Given the description of an element on the screen output the (x, y) to click on. 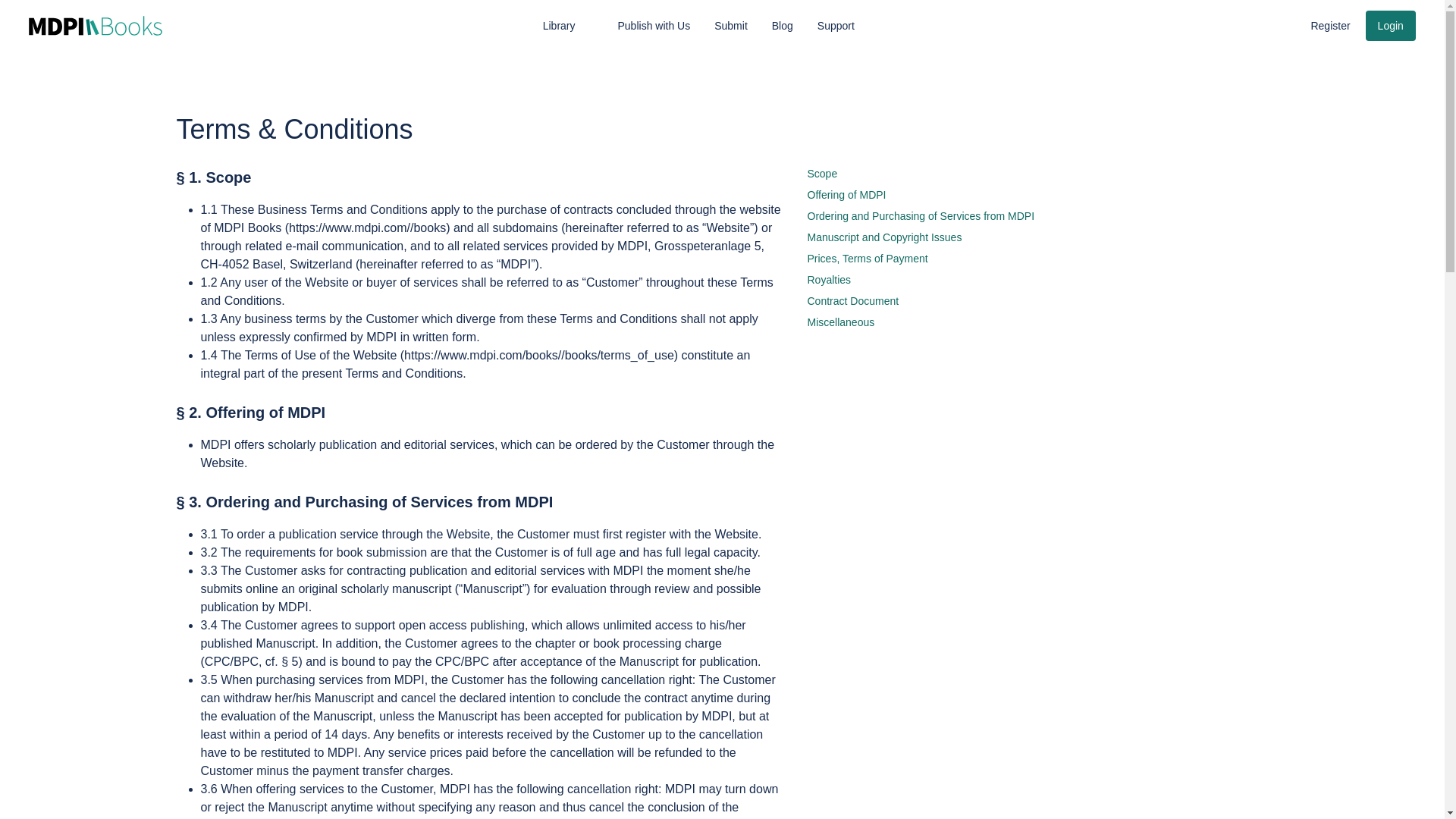
Library (568, 25)
Miscellaneous (840, 322)
Royalties (828, 279)
Scope (821, 173)
Prices, Terms of Payment (866, 258)
Login (1390, 25)
Search (1249, 24)
Contract Document (852, 300)
Publish with Us (653, 25)
Register (1329, 25)
Offering of MDPI (845, 194)
Ordering and Purchasing of Services from MDPI (919, 215)
Go to cart (1280, 24)
Manuscript and Copyright Issues (883, 236)
